Given the description of an element on the screen output the (x, y) to click on. 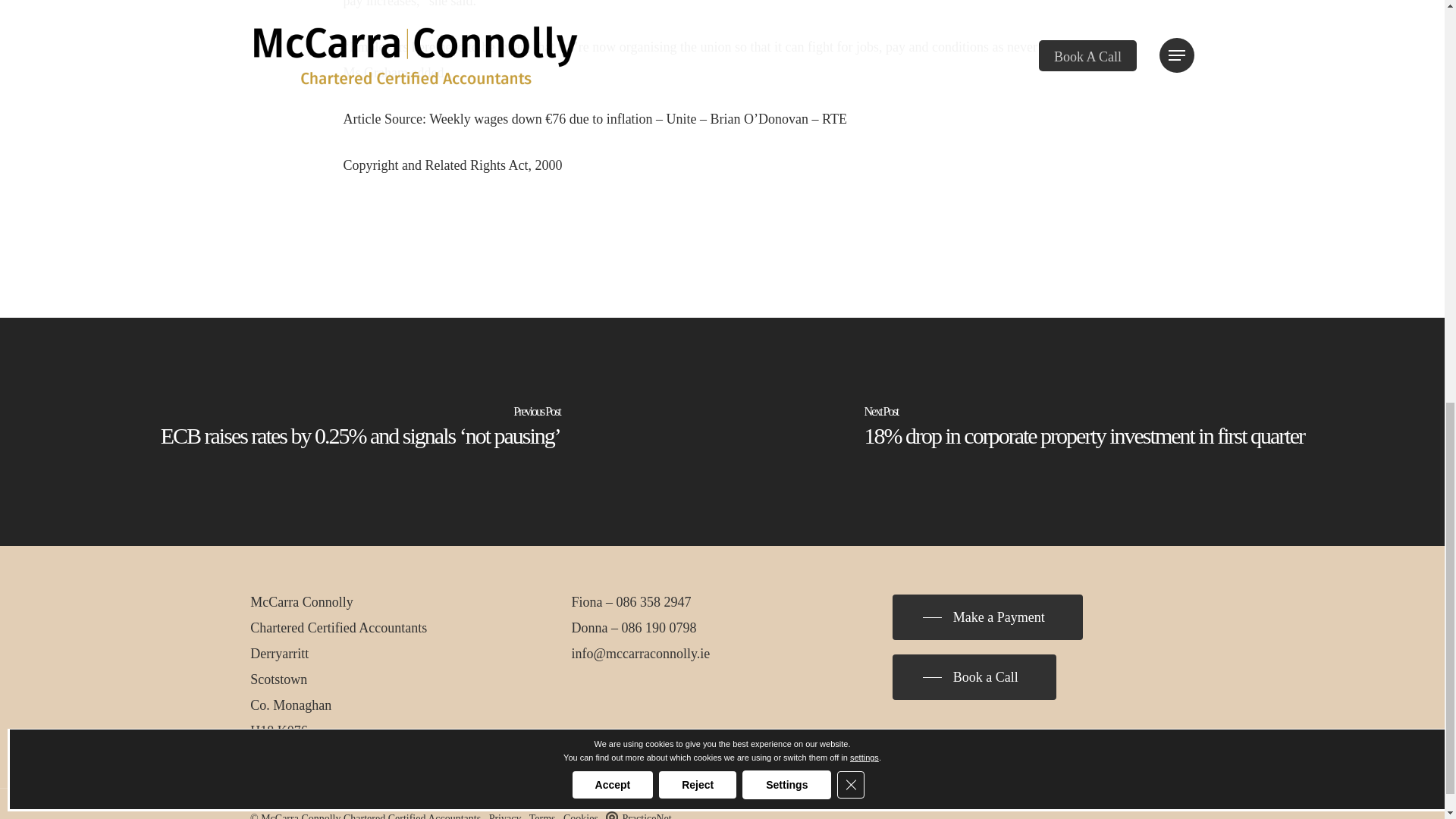
Copyright and Related Rights Act, 2000 (452, 165)
Make a Payment (987, 616)
086 358 2947 (653, 601)
Privacy (505, 816)
086 190 0798 (659, 627)
Cookies (580, 816)
Book a Call (974, 677)
Terms (542, 816)
PracticeNet (638, 816)
